Given the description of an element on the screen output the (x, y) to click on. 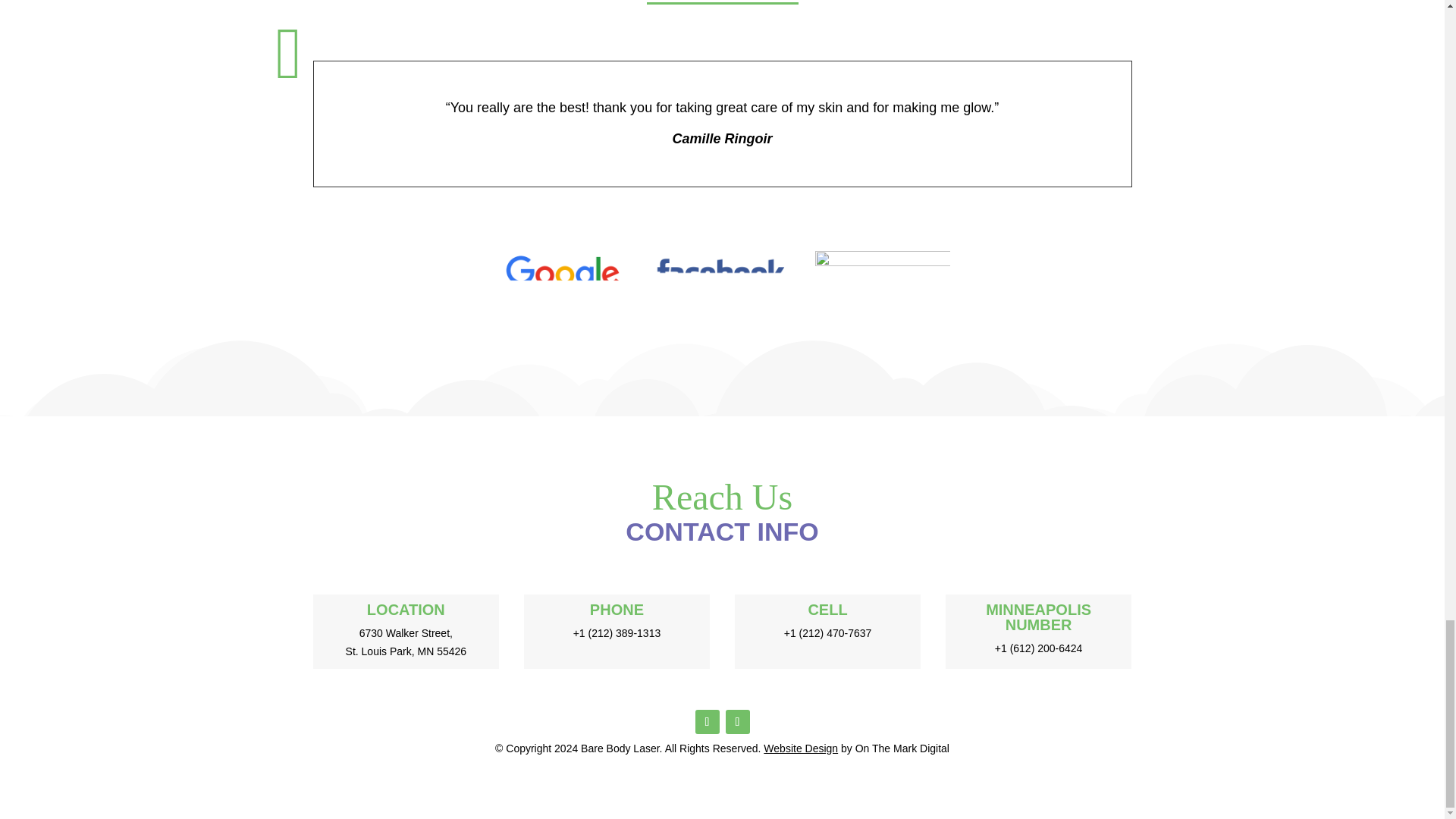
Follow on Facebook (706, 721)
google-review (561, 280)
facebook-reviews (722, 280)
Follow on Instagram (737, 721)
Website Design (800, 748)
yelp-logo (881, 283)
